Given the description of an element on the screen output the (x, y) to click on. 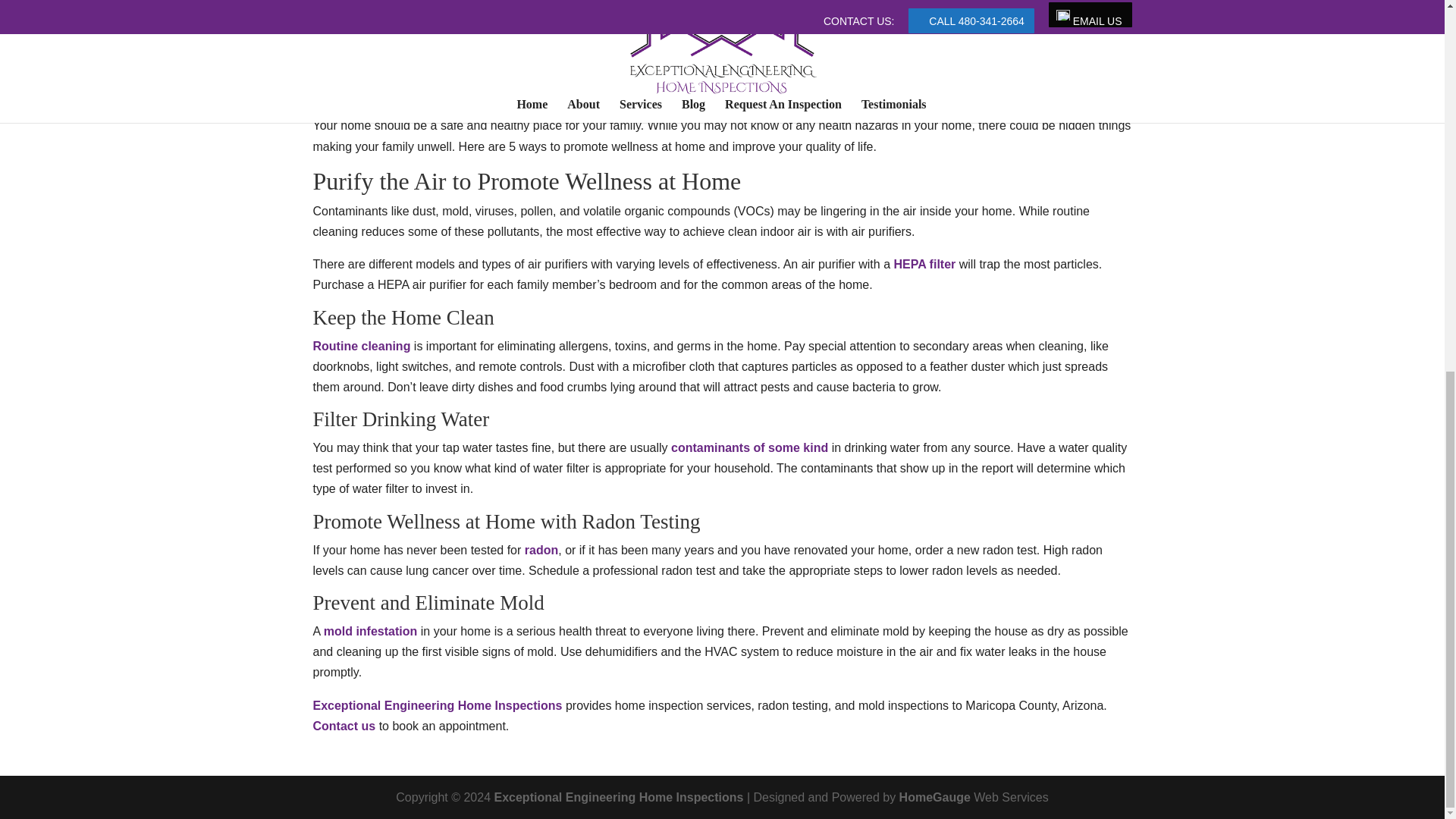
Routine cleaning (361, 345)
HEPA filter (924, 264)
radon (540, 549)
mold infestation (370, 631)
Contact us  (345, 725)
Exceptional Engineering Home Inspections (617, 797)
HomeGauge (935, 797)
contaminants of some kind (749, 447)
Exceptional Engineering Home Inspections (437, 705)
